Given the description of an element on the screen output the (x, y) to click on. 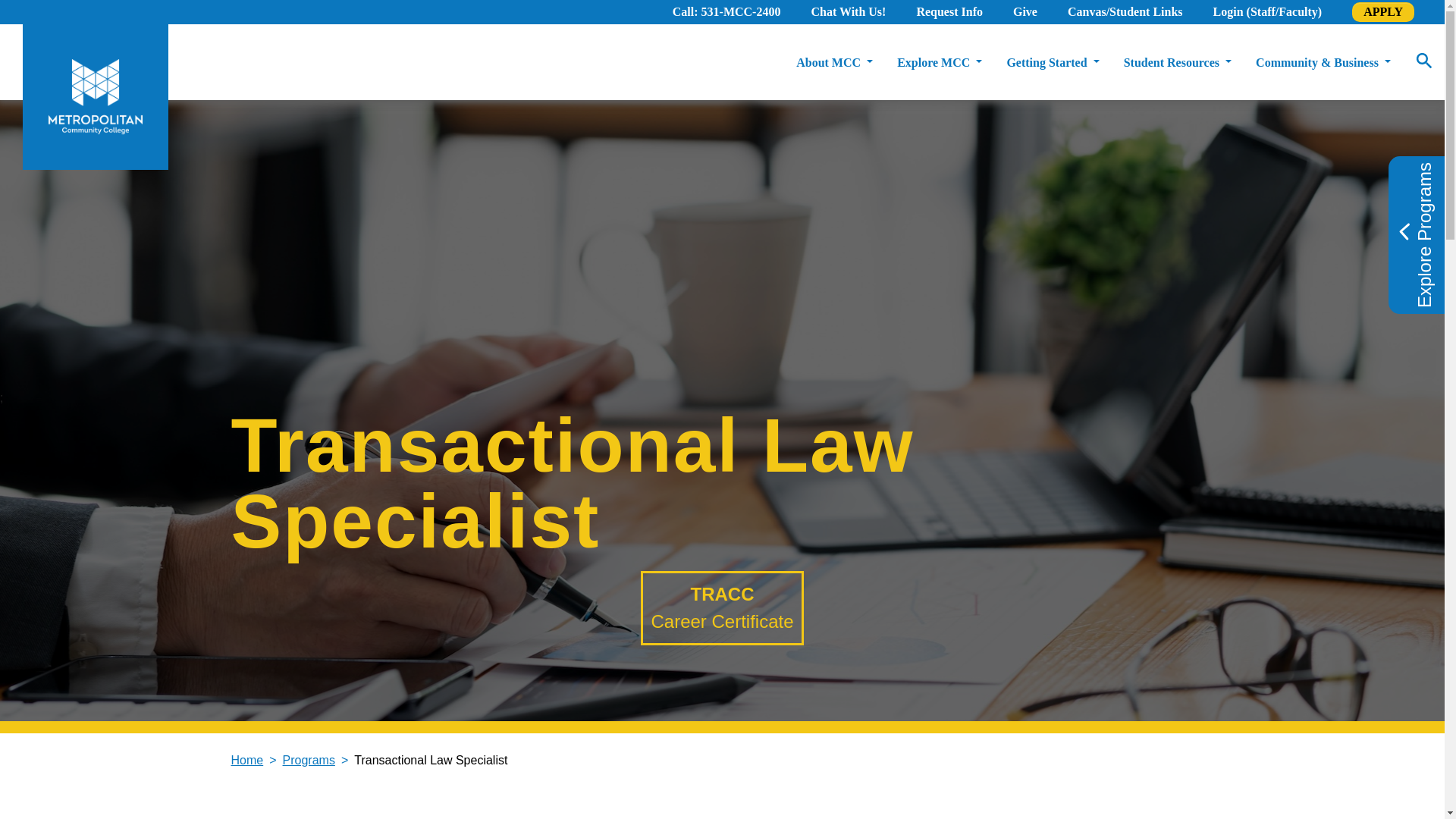
Explore MCC (938, 61)
Getting Started (1051, 61)
Give (1024, 12)
About MCC (833, 61)
Call: 531-MCC-2400 (726, 12)
Request Info (948, 12)
APPLY (1382, 12)
Chat With Us! (847, 12)
